Given the description of an element on the screen output the (x, y) to click on. 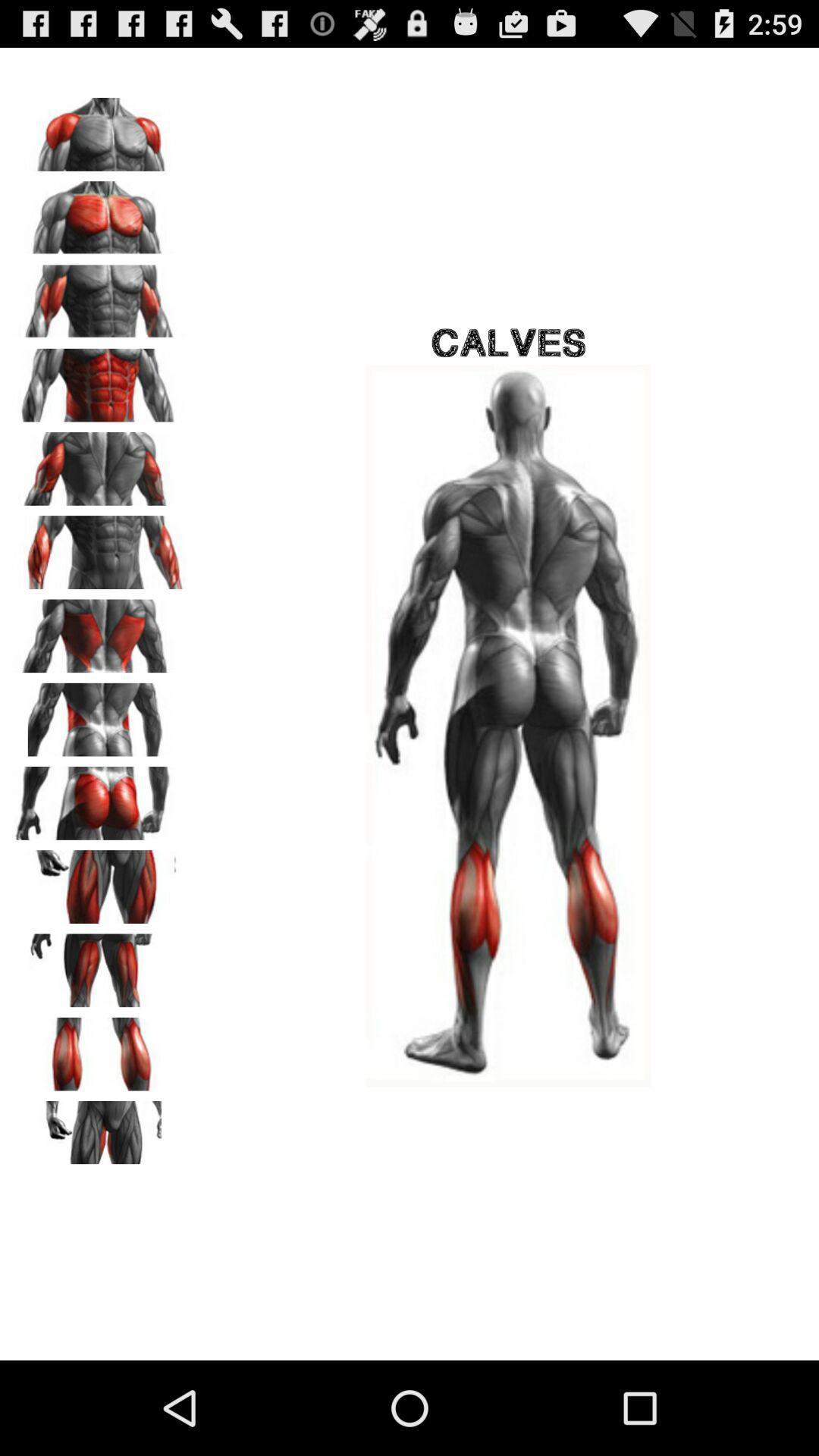
pectoral (99, 212)
